Given the description of an element on the screen output the (x, y) to click on. 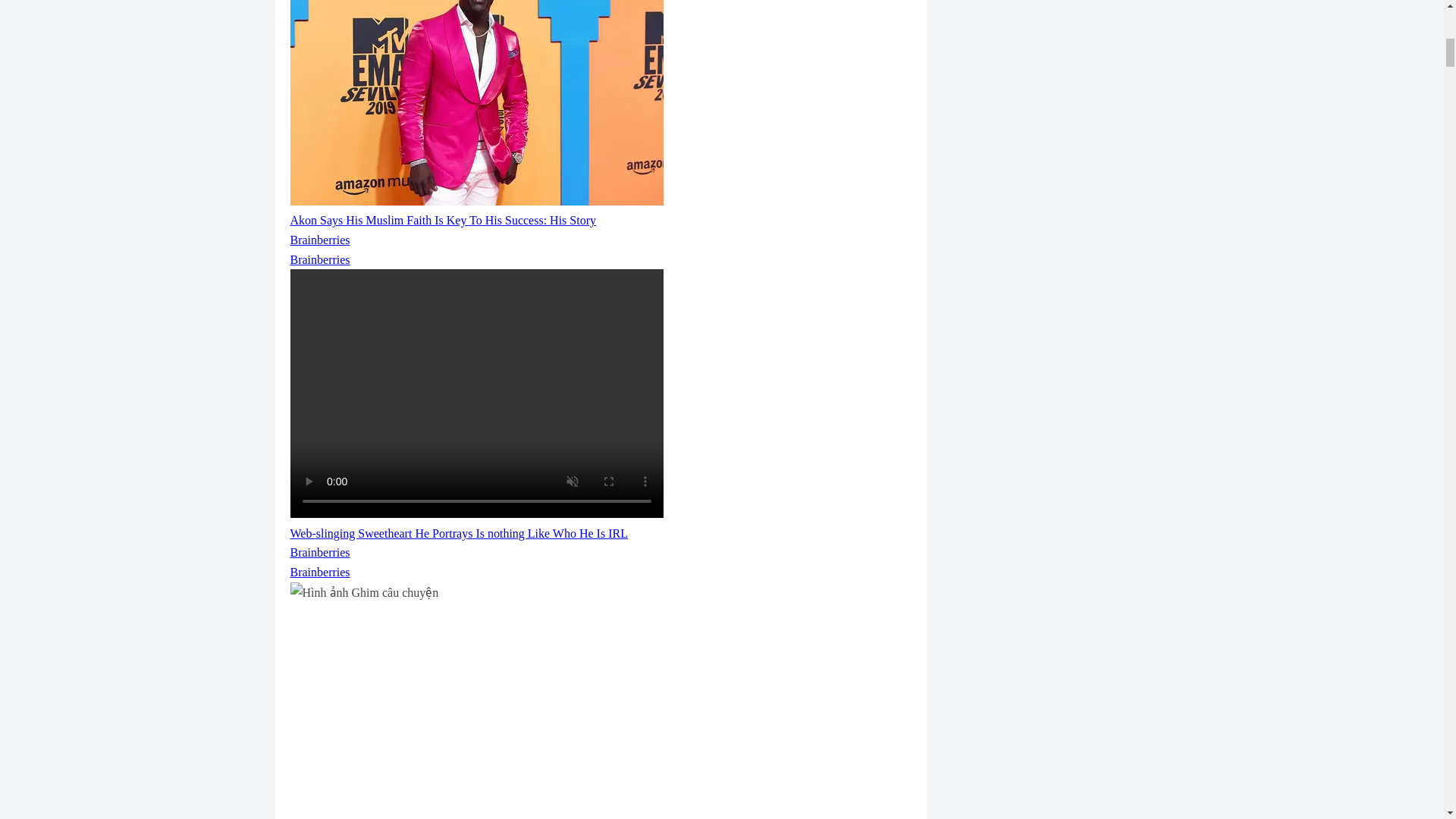
Advertisement (600, 720)
